Given the description of an element on the screen output the (x, y) to click on. 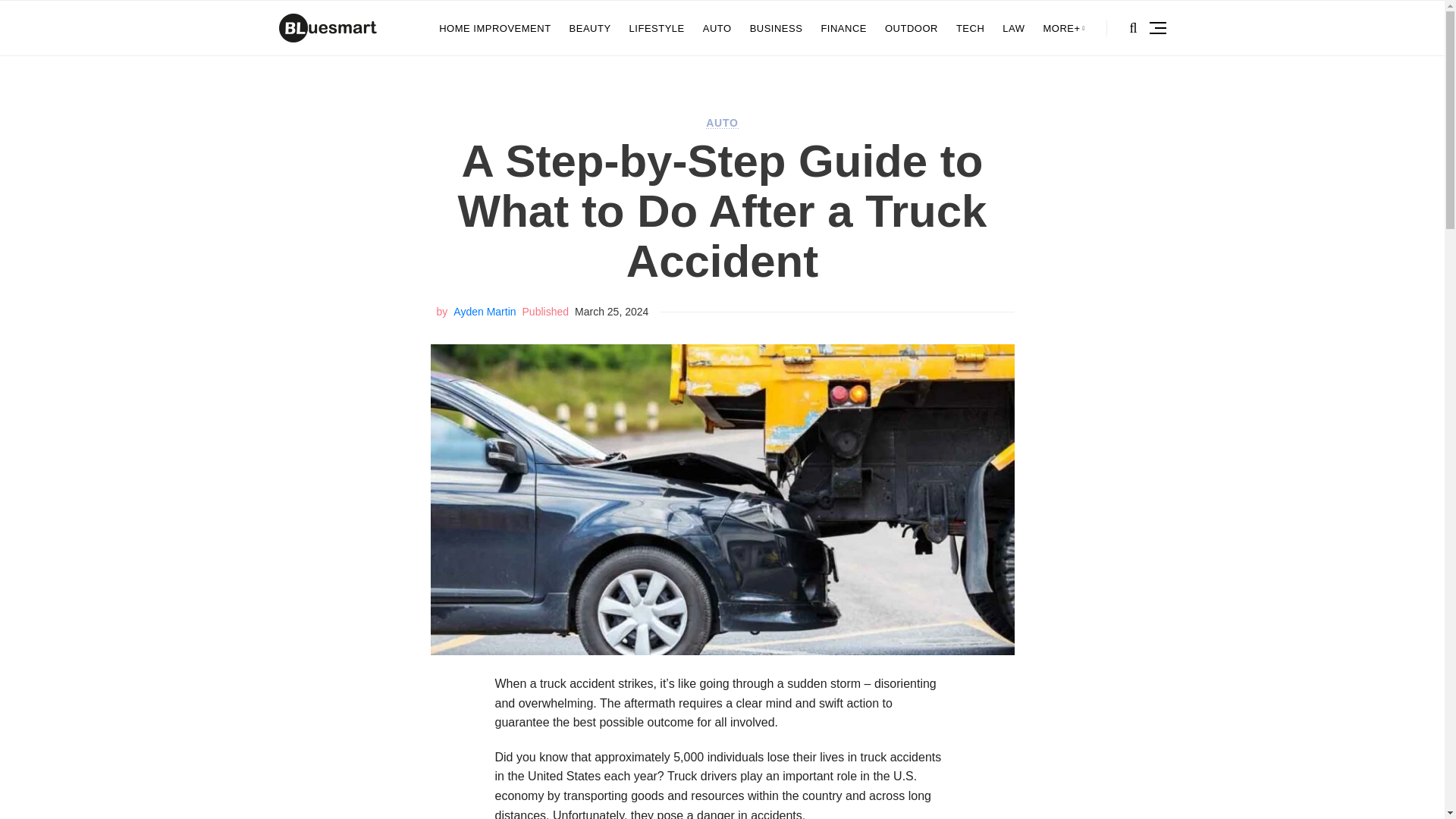
Posts by Ayden Martin (483, 311)
AUTO (722, 122)
LIFESTYLE (657, 27)
FINANCE (843, 27)
BUSINESS (776, 27)
Ayden Martin (483, 311)
BEAUTY (590, 27)
HOME IMPROVEMENT (494, 27)
OUTDOOR (911, 27)
